Given the description of an element on the screen output the (x, y) to click on. 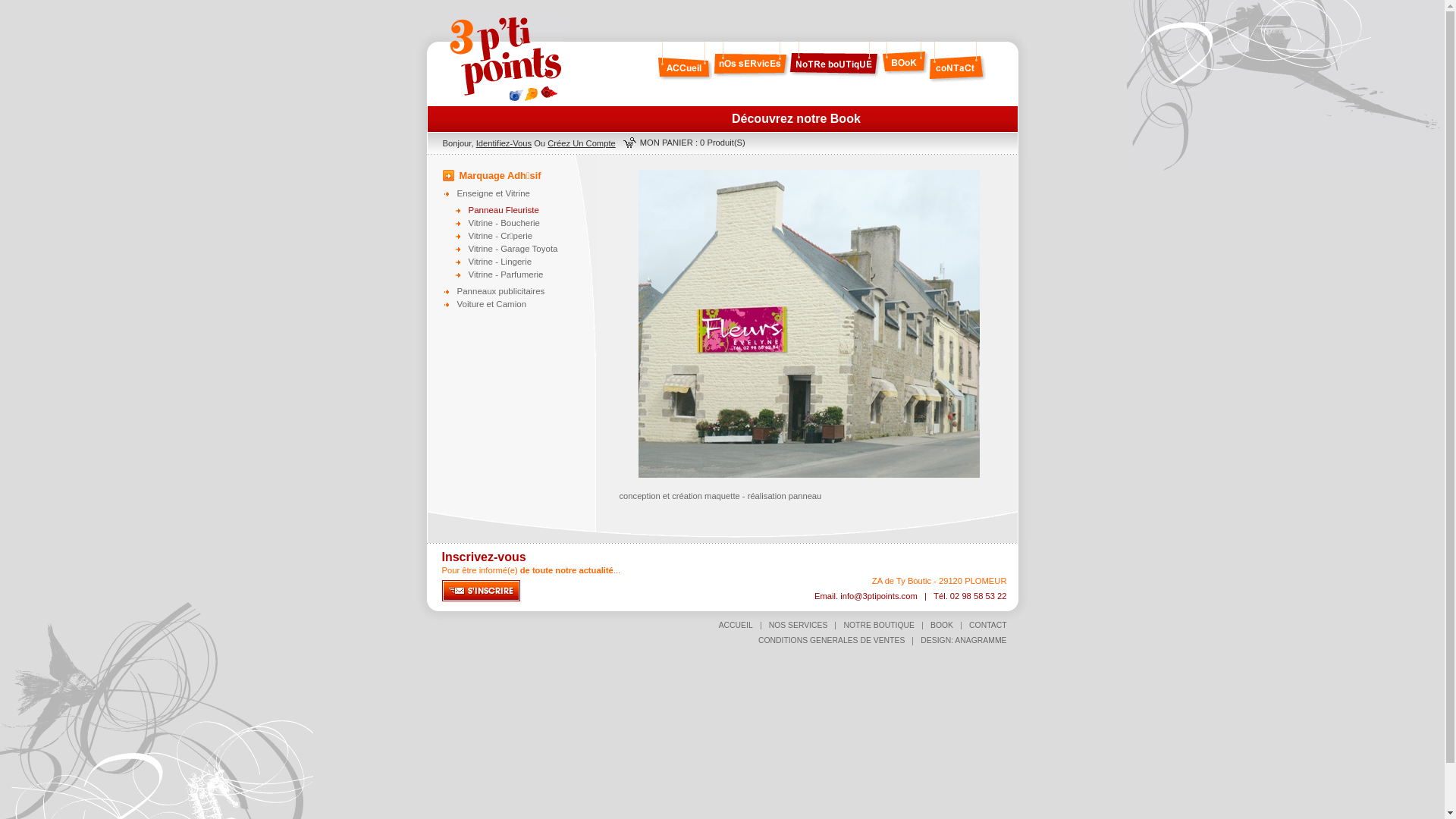
BOOK Element type: text (941, 625)
Vitrine - Garage Toyota Element type: text (533, 248)
CONDITIONS GENERALES DE VENTES Element type: text (831, 640)
MON PANIER : 0 Produit(S) Element type: text (692, 142)
Enseigne et Vitrine Element type: text (521, 192)
Panneau Fleuriste Element type: text (533, 209)
DESIGN: ANAGRAMME Element type: text (963, 640)
CONTACT Element type: text (987, 625)
Voiture et Camion Element type: text (521, 303)
Identifiez-Vous Element type: text (503, 142)
Vitrine - Lingerie Element type: text (533, 261)
ACCUEIL Element type: text (735, 625)
NOS SERVICES Element type: text (798, 625)
Vitrine - Parfumerie Element type: text (533, 274)
NOTRE BOUTIQUE Element type: text (878, 625)
Panneaux publicitaires Element type: text (521, 290)
Vitrine - Boucherie Element type: text (533, 222)
